Given the description of an element on the screen output the (x, y) to click on. 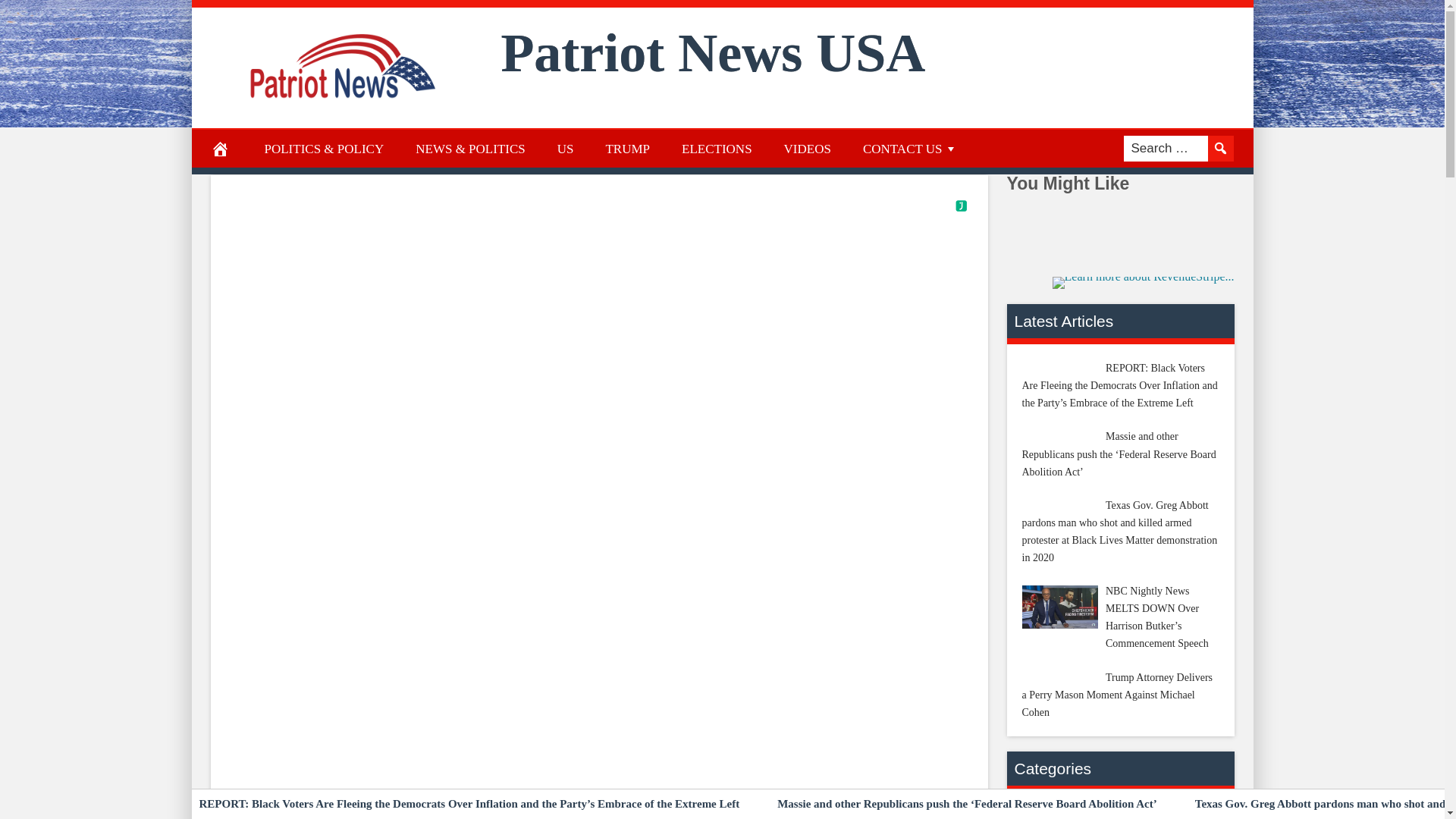
CONTACT US (910, 148)
US (565, 148)
TRUMP (627, 148)
VIDEOS (807, 148)
ELECTIONS (716, 148)
Patriot News USA (712, 52)
